Given the description of an element on the screen output the (x, y) to click on. 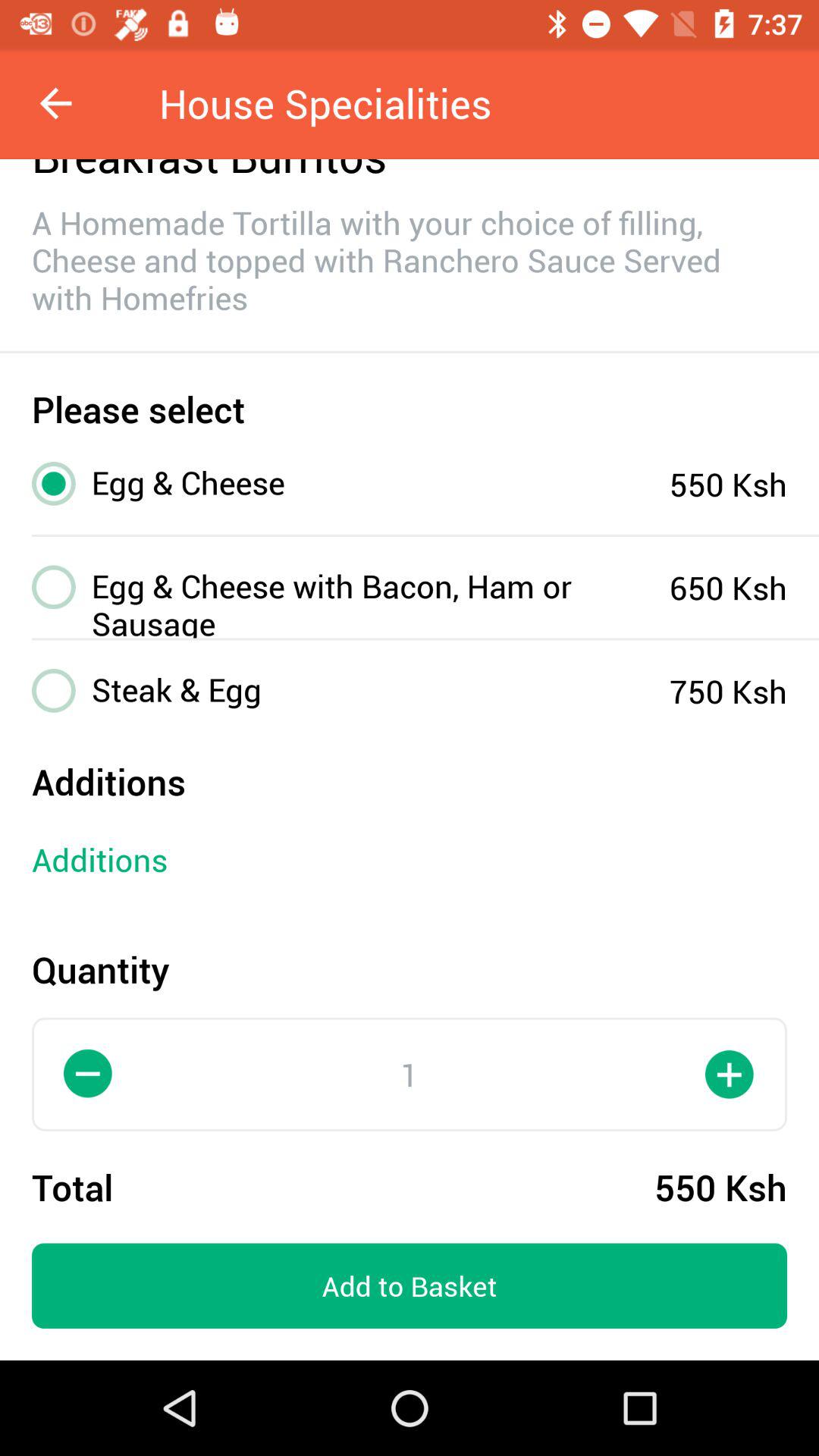
turn on the item below the total (409, 1285)
